Given the description of an element on the screen output the (x, y) to click on. 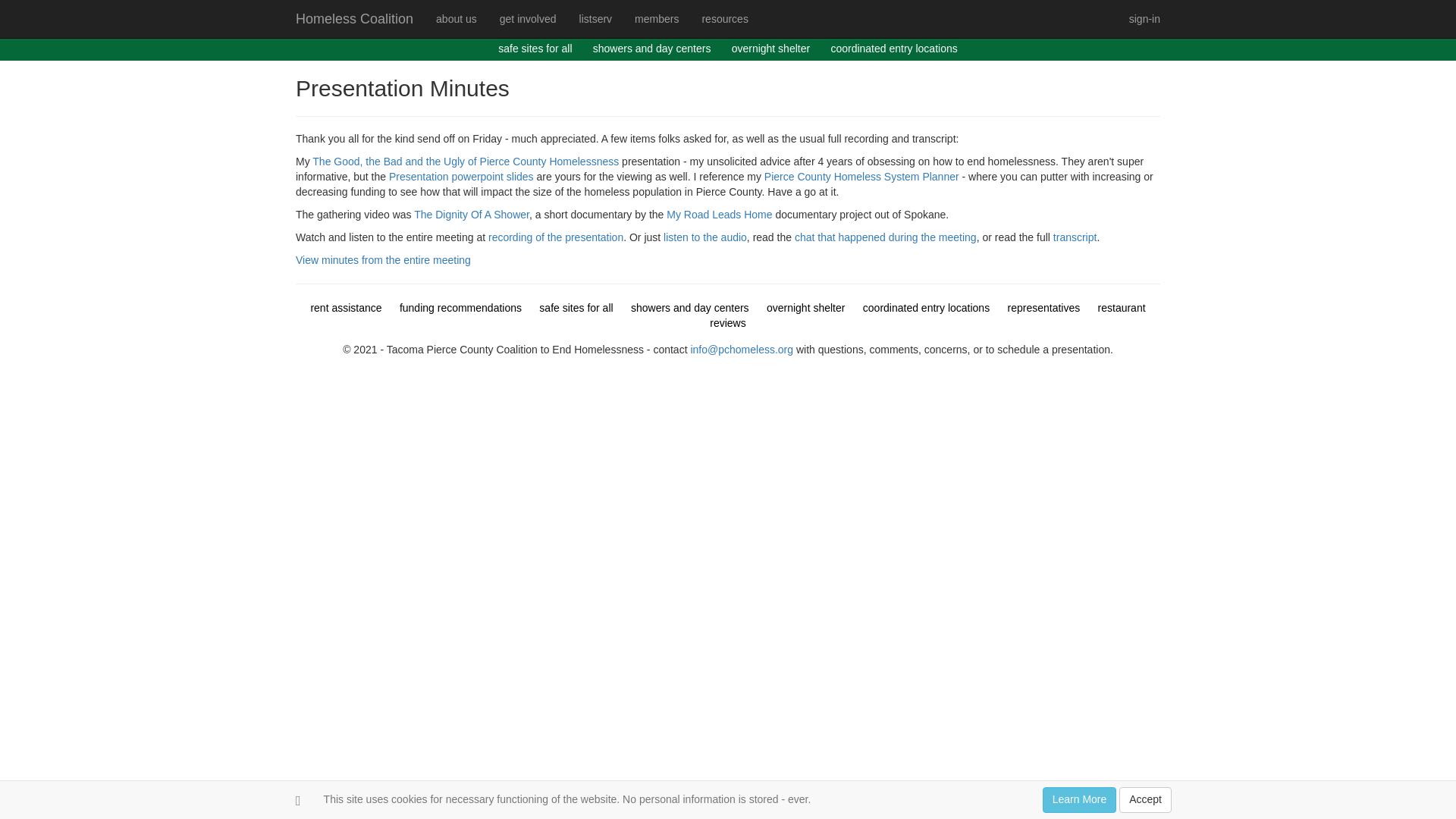
The Dignity Of A Shower (471, 214)
restaurant reviews (927, 315)
overnight shelter (806, 307)
about us (456, 18)
coordinated entry locations (892, 48)
My Road Leads Home (718, 214)
coordinated entry locations (926, 307)
sign-in (1145, 18)
listserv (595, 18)
funding recommendations (459, 307)
recording of the presentation (555, 236)
View minutes from the entire meeting (382, 259)
overnight shelter (771, 48)
Pierce County Homeless System Planner (861, 176)
listen to the audio (704, 236)
